Given the description of an element on the screen output the (x, y) to click on. 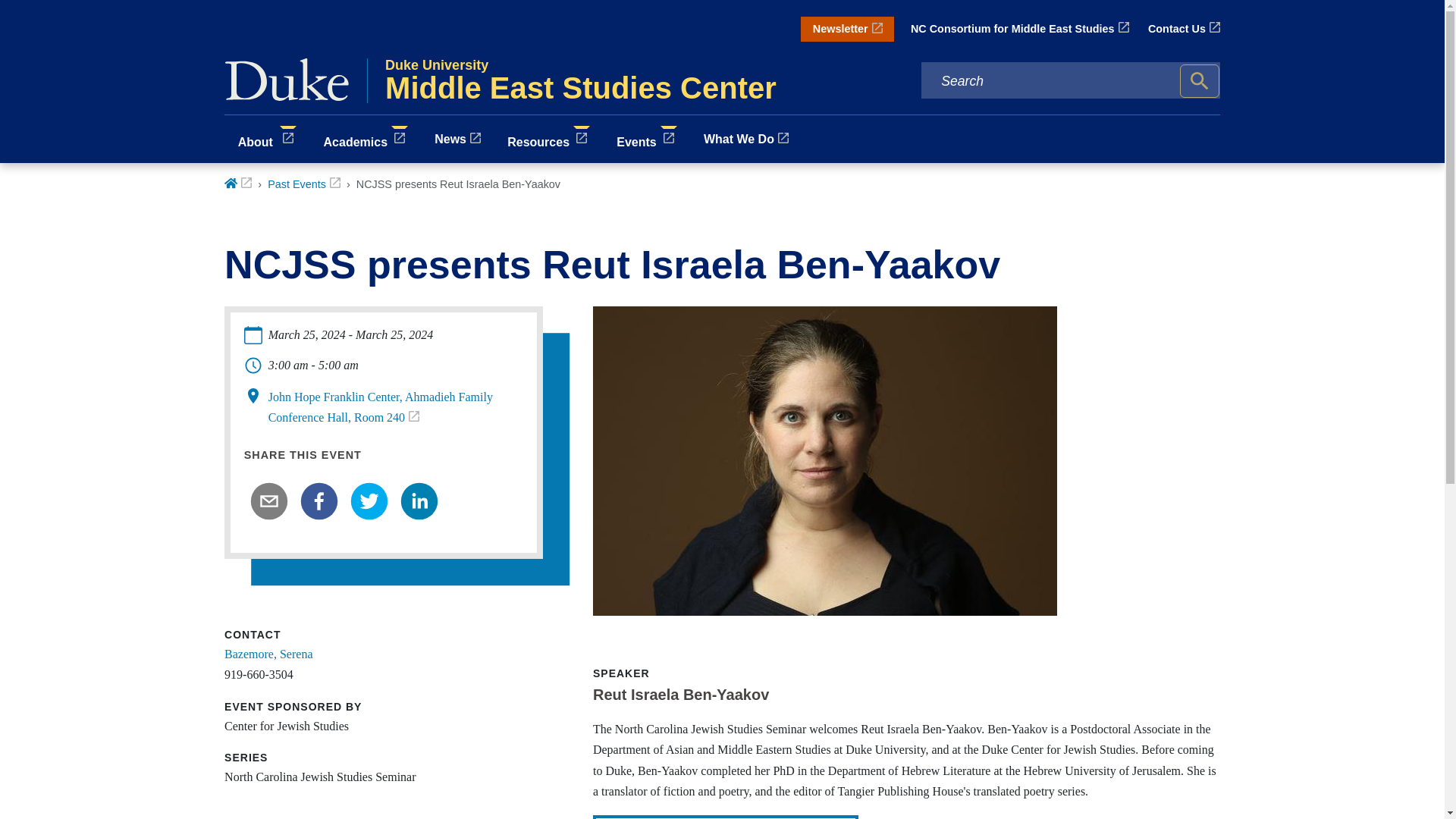
MORE EVENT INFORMATION (725, 816)
News (458, 138)
Past Events (303, 184)
NC Consortium for Middle East Studies (1020, 28)
Contact Us (1184, 28)
Home (237, 184)
Resources (549, 138)
What We Do (547, 80)
